Given the description of an element on the screen output the (x, y) to click on. 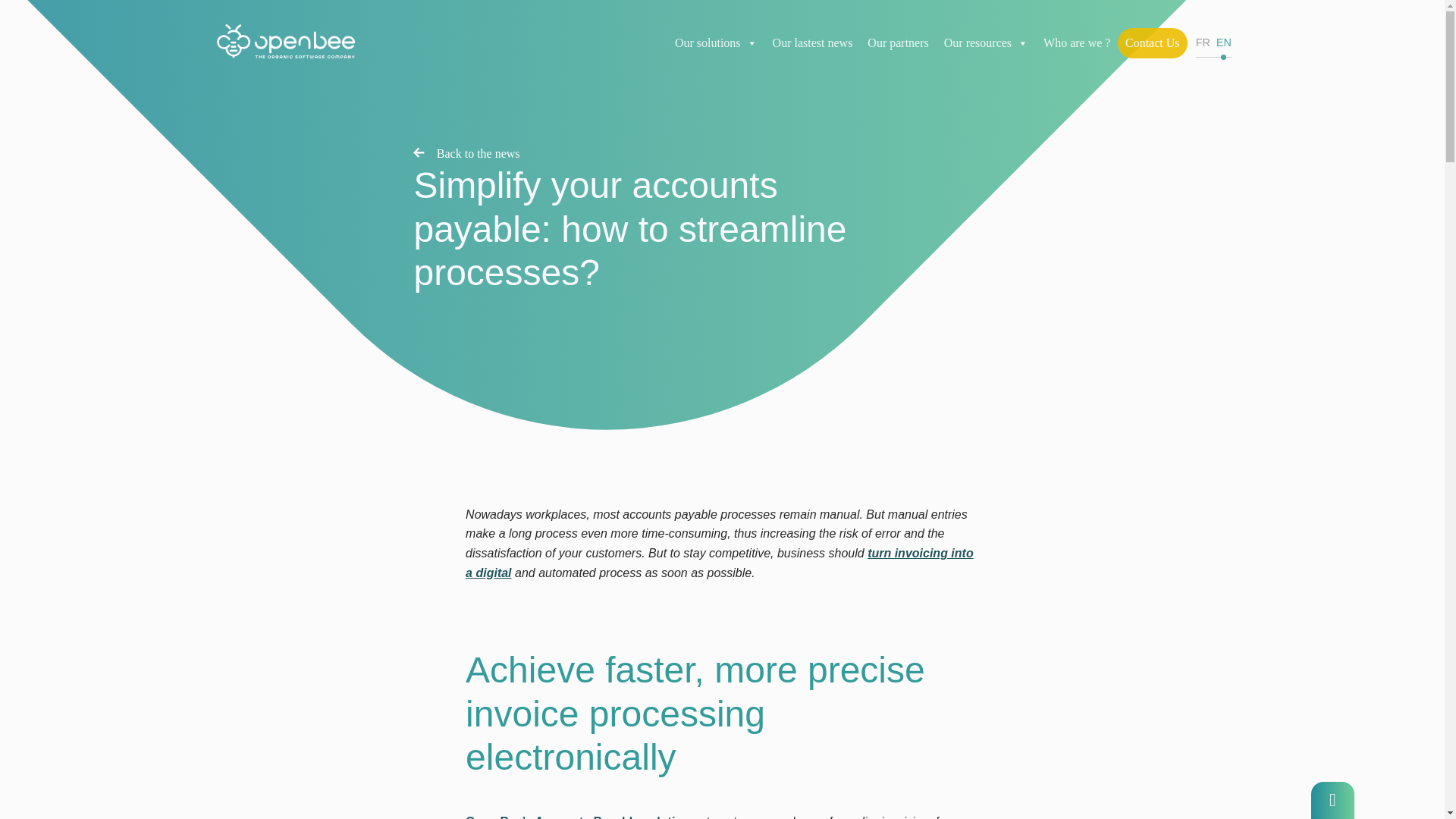
Our partners (898, 42)
Back to the news (466, 153)
Back to the news (466, 153)
EN (1223, 42)
FR (1202, 42)
Contact Us (1153, 42)
Our solutions (715, 42)
turn invoicing into a digital (719, 563)
Who are we ? (1076, 42)
Our lastest news (812, 42)
Our resources (985, 42)
Contact us (1332, 800)
